Given the description of an element on the screen output the (x, y) to click on. 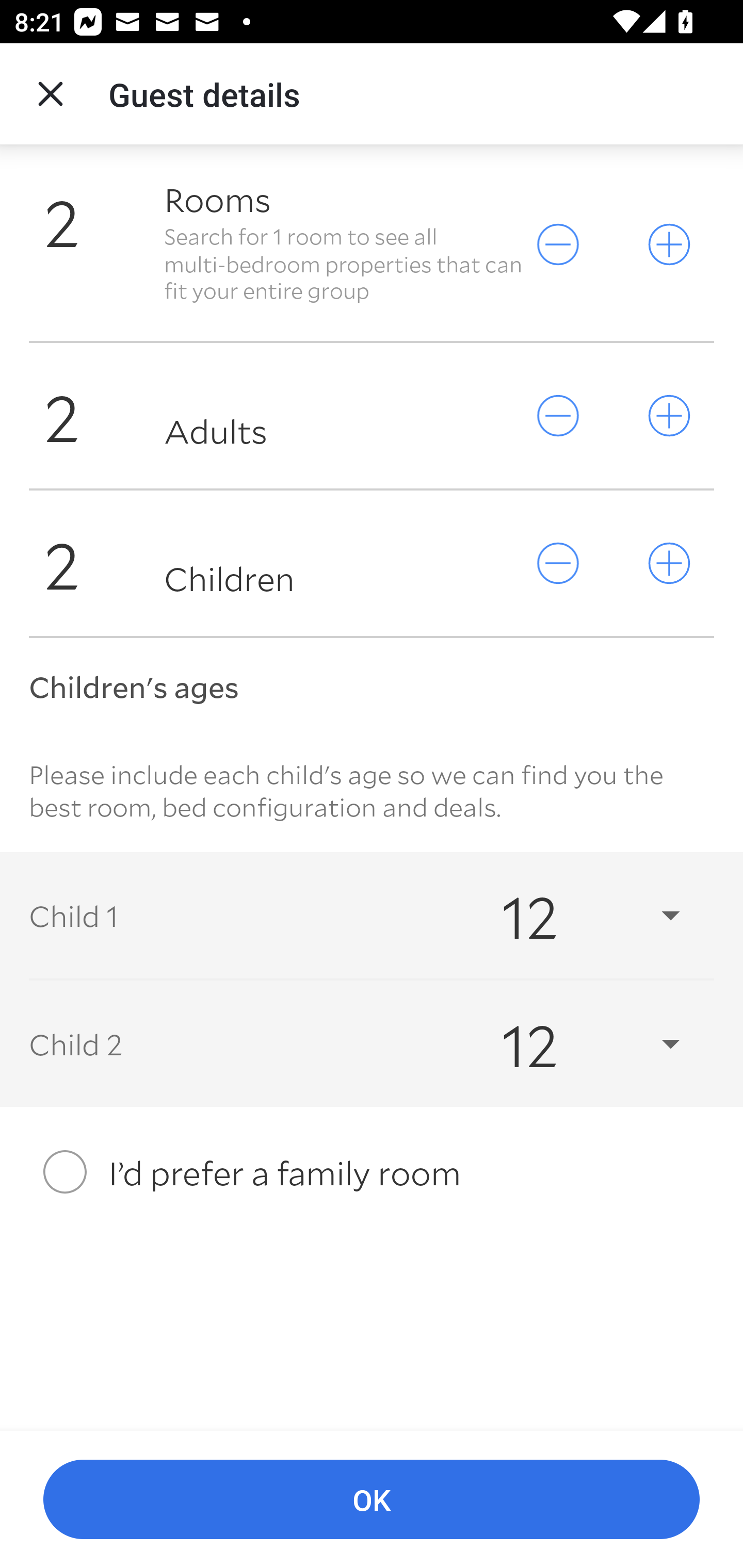
12 (573, 914)
12 (573, 1043)
I’d prefer a family room (371, 1172)
OK (371, 1499)
